Given the description of an element on the screen output the (x, y) to click on. 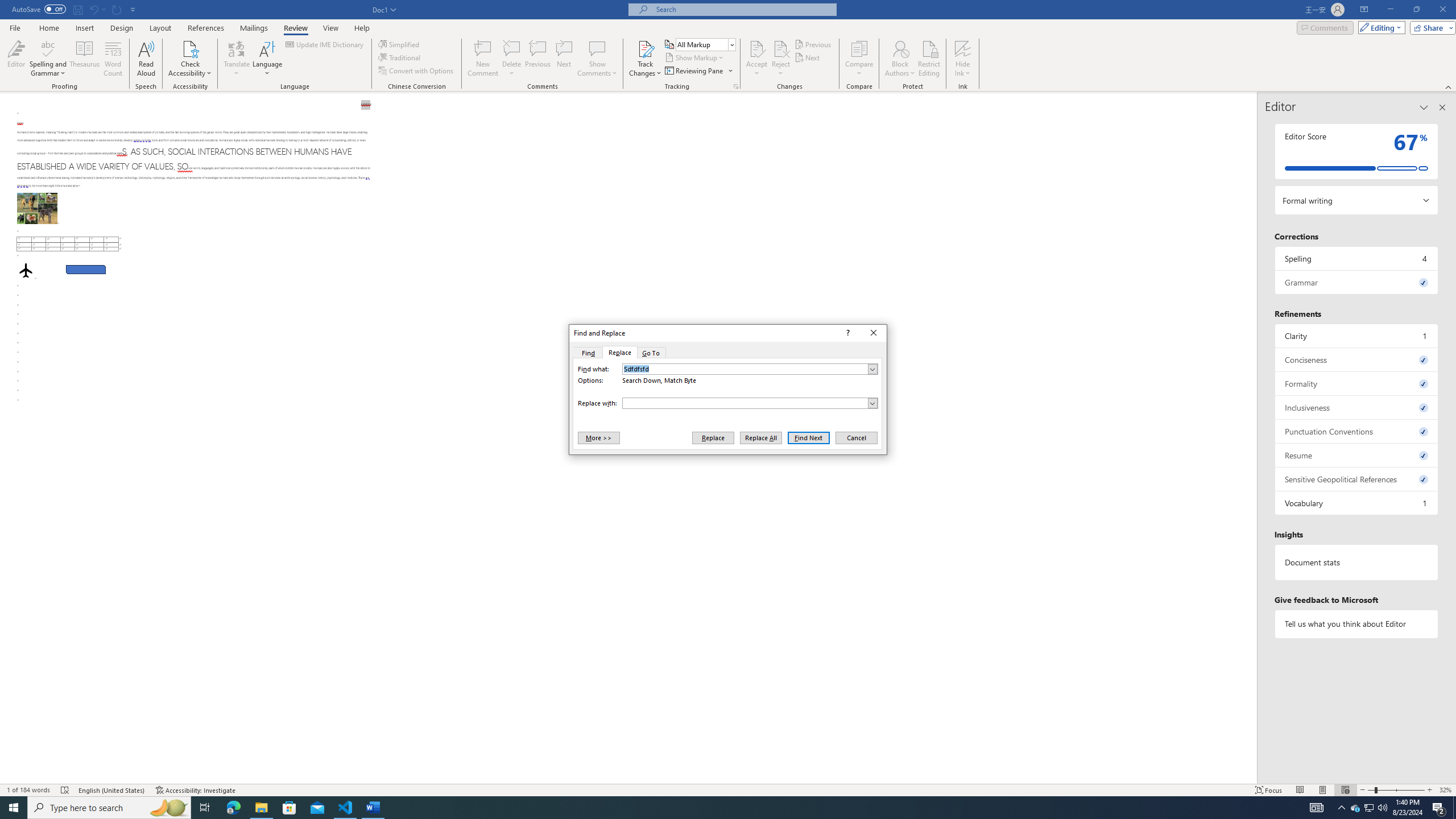
Search highlights icon opens search home window (167, 807)
Hide Ink (962, 48)
Running applications (717, 807)
Context help (847, 333)
Type here to search (108, 807)
Restrict Editing (929, 58)
Visual Studio Code - 1 running window (345, 807)
Conciseness, 0 issues. Press space or enter to review items. (1356, 359)
Replace (619, 352)
Track Changes (644, 48)
